Given the description of an element on the screen output the (x, y) to click on. 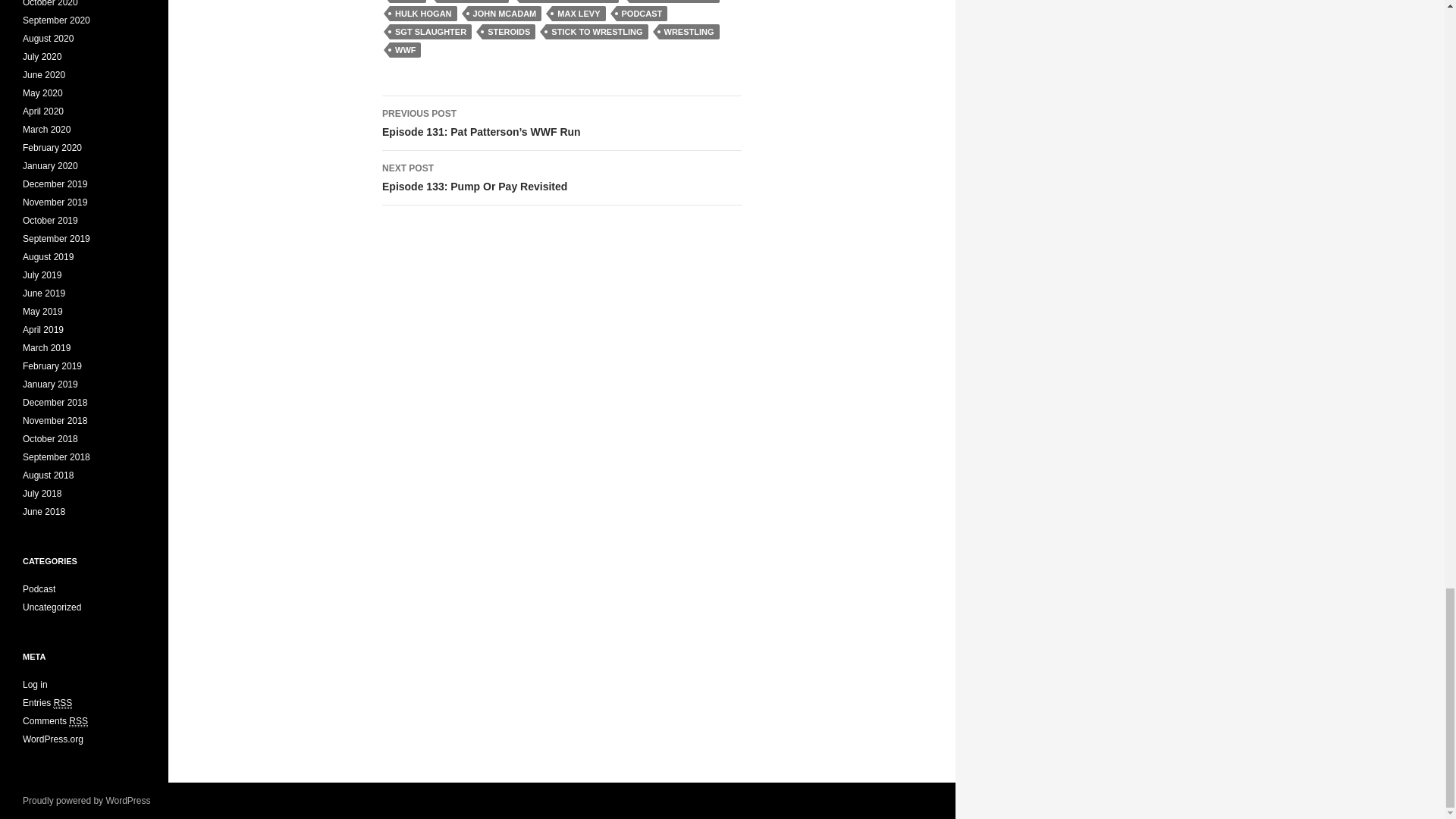
MAX LEVY (578, 13)
STICK TO WRESTLING (596, 31)
DOINK THE CLOWN (673, 1)
Really Simple Syndication (77, 721)
STEROIDS (508, 31)
JOHN MCADAM (504, 13)
1990'S (408, 1)
BERRY ORTON (561, 177)
CLASSIC WRESTLING (472, 1)
HULK HOGAN (568, 1)
Really Simple Syndication (423, 13)
PODCAST (62, 703)
WRESTLING (641, 13)
